Given the description of an element on the screen output the (x, y) to click on. 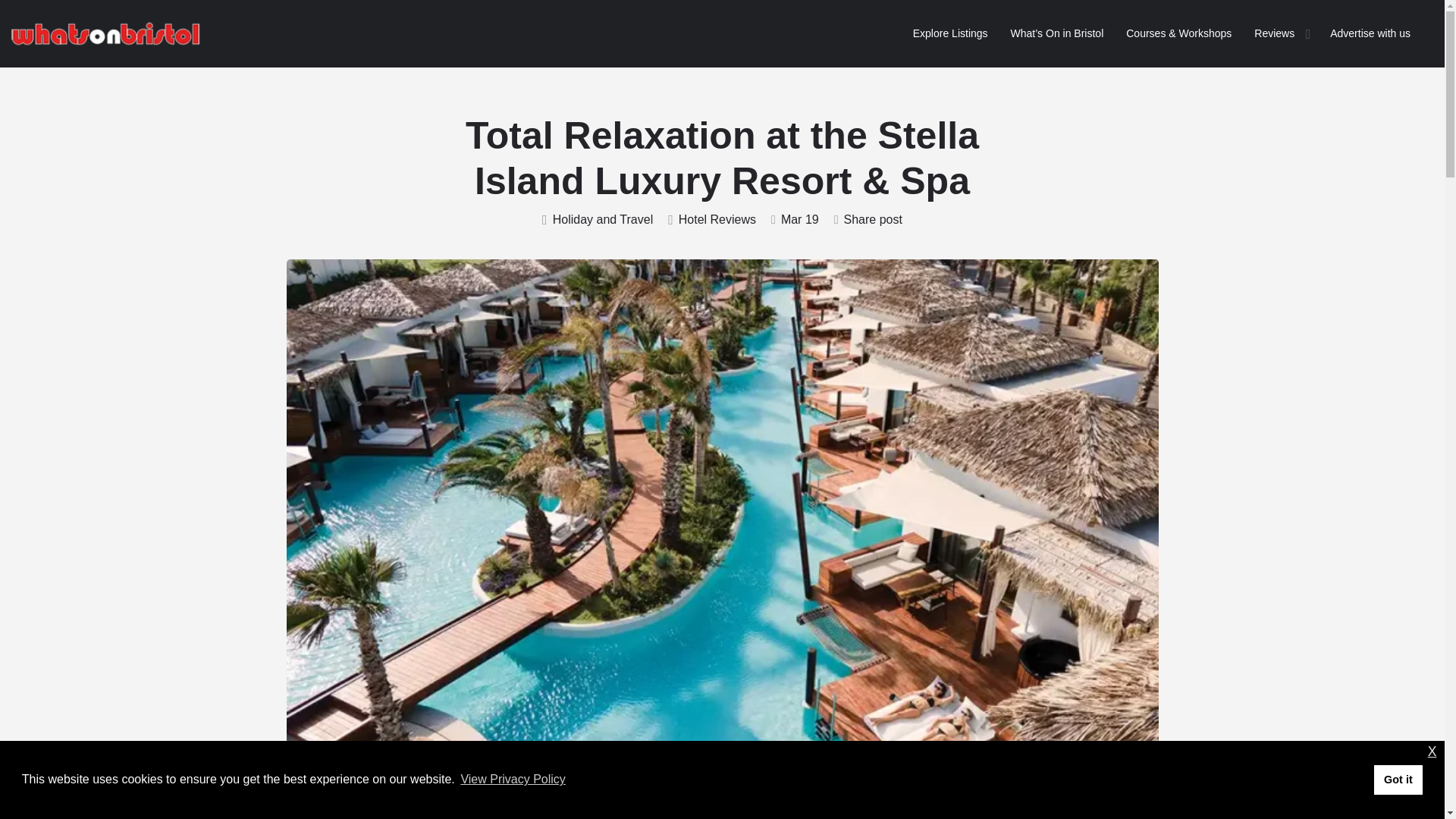
Advertise with us (1370, 32)
Hotel Reviews (711, 220)
Explore Listings (950, 32)
Reviews (1273, 32)
Share post (868, 220)
Holiday and Travel (596, 220)
